Given the description of an element on the screen output the (x, y) to click on. 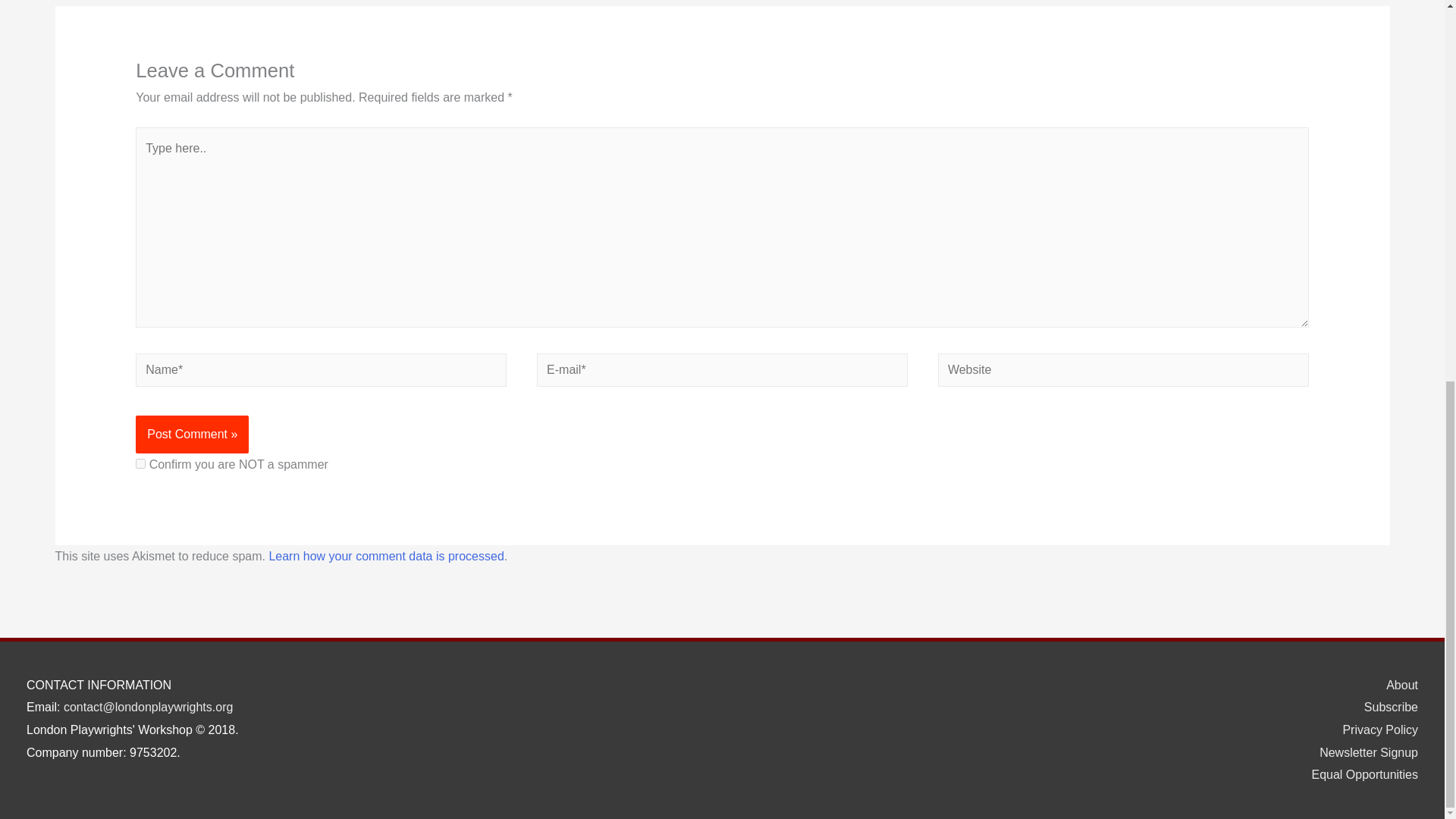
About (1396, 684)
Subscribe (1385, 707)
Newsletter Signup (1362, 752)
Equal Opportunities (1358, 774)
on (140, 463)
Learn how your comment data is processed (385, 555)
Privacy Policy (1374, 729)
